Given the description of an element on the screen output the (x, y) to click on. 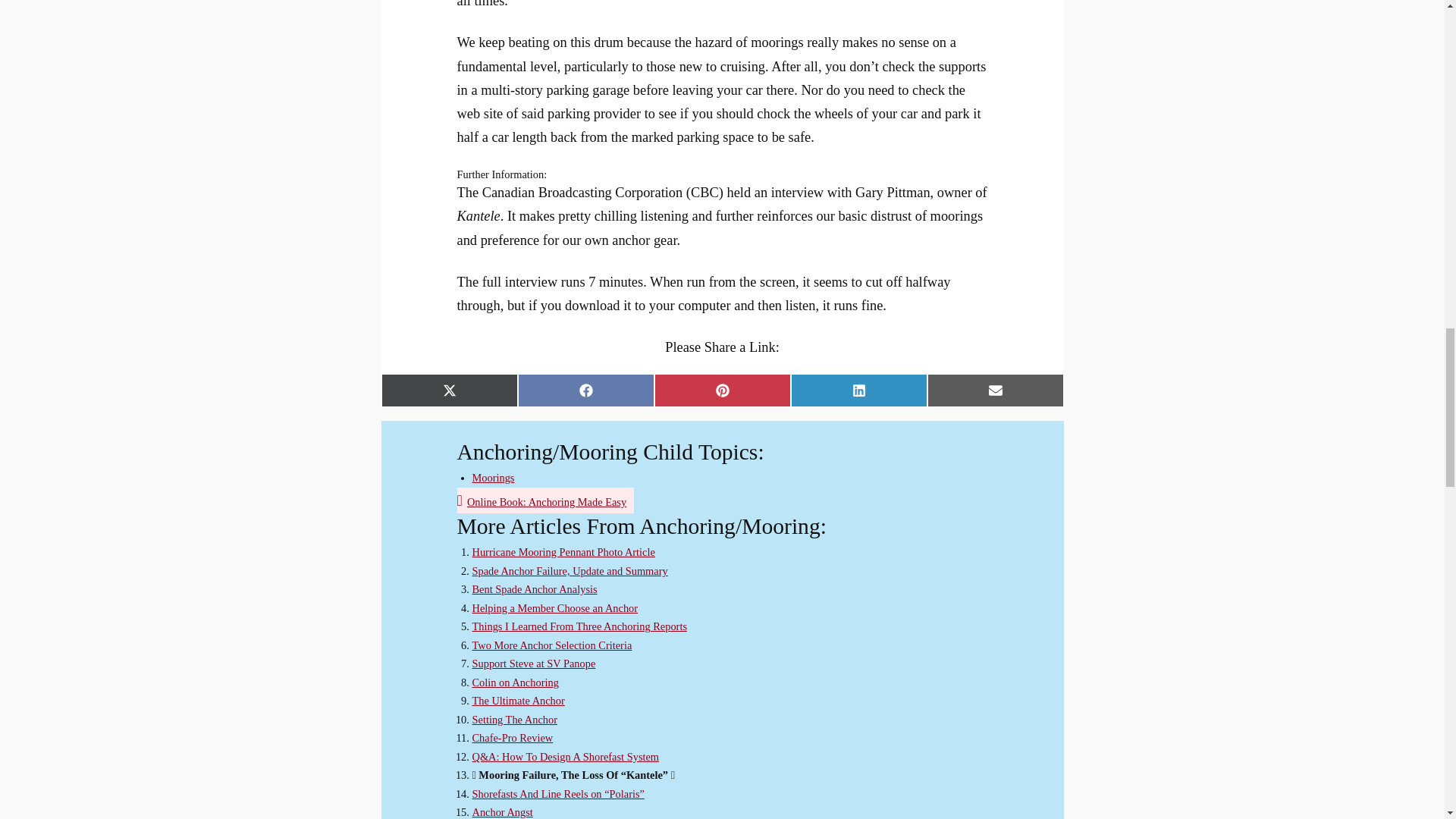
Two More Anchor Selection Criteria (551, 645)
The Ultimate Anchor (517, 700)
Anchor Angst (501, 811)
Share on LinkedIn (858, 390)
Spade Anchor Failure, Update and Summary (568, 571)
Chafe-Pro Review (512, 737)
Online Book: Anchoring Made Easy (546, 501)
Moorings (492, 477)
Share on Pinterest (721, 390)
Share on Email (994, 390)
